Given the description of an element on the screen output the (x, y) to click on. 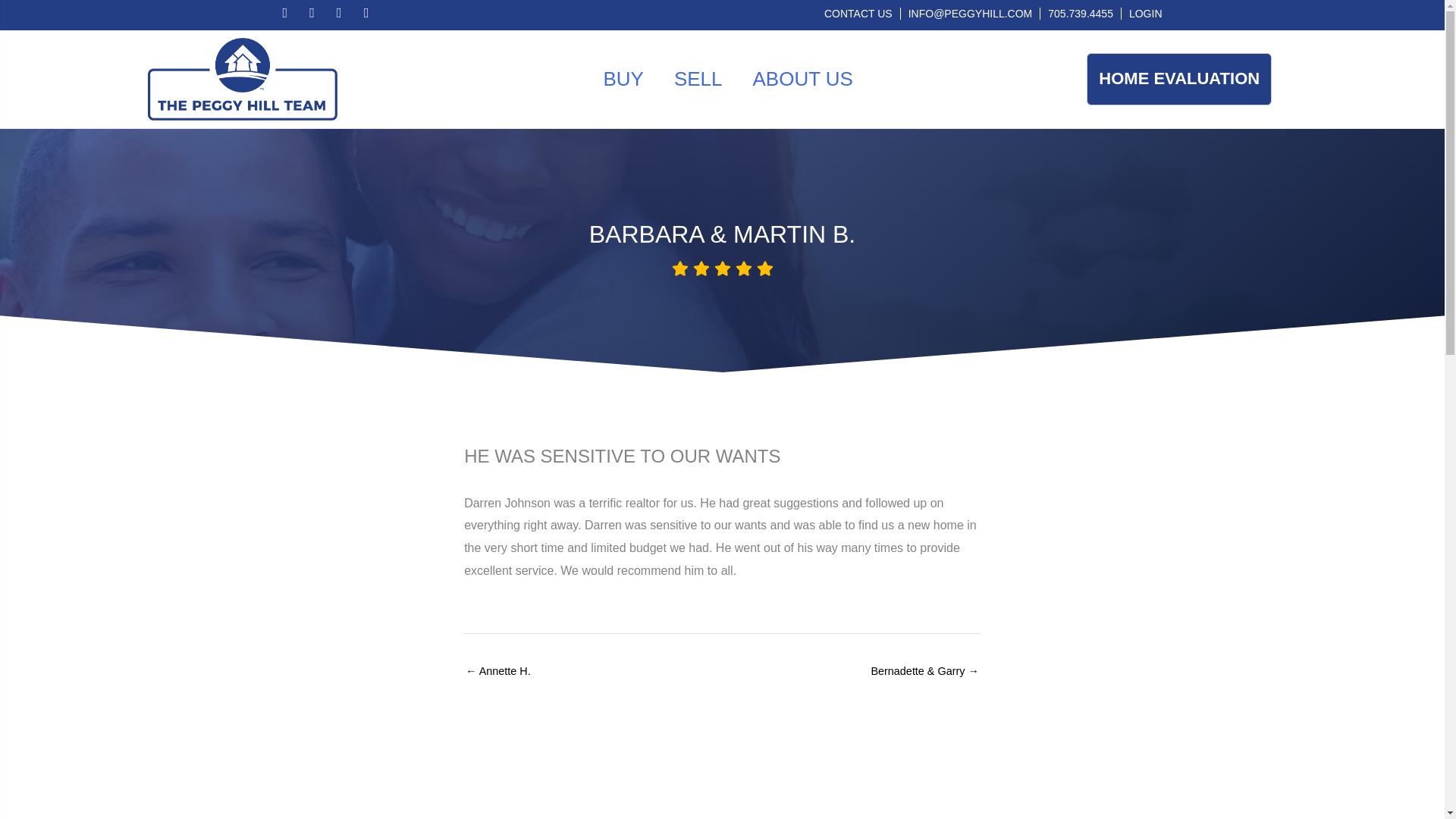
LOGIN (1145, 13)
peggyhill-bluelogo-website-05 (241, 78)
CONTACT US (858, 13)
ABOUT US (802, 79)
705.739.4455 (1080, 13)
SELL (697, 79)
BUY (622, 79)
